Given the description of an element on the screen output the (x, y) to click on. 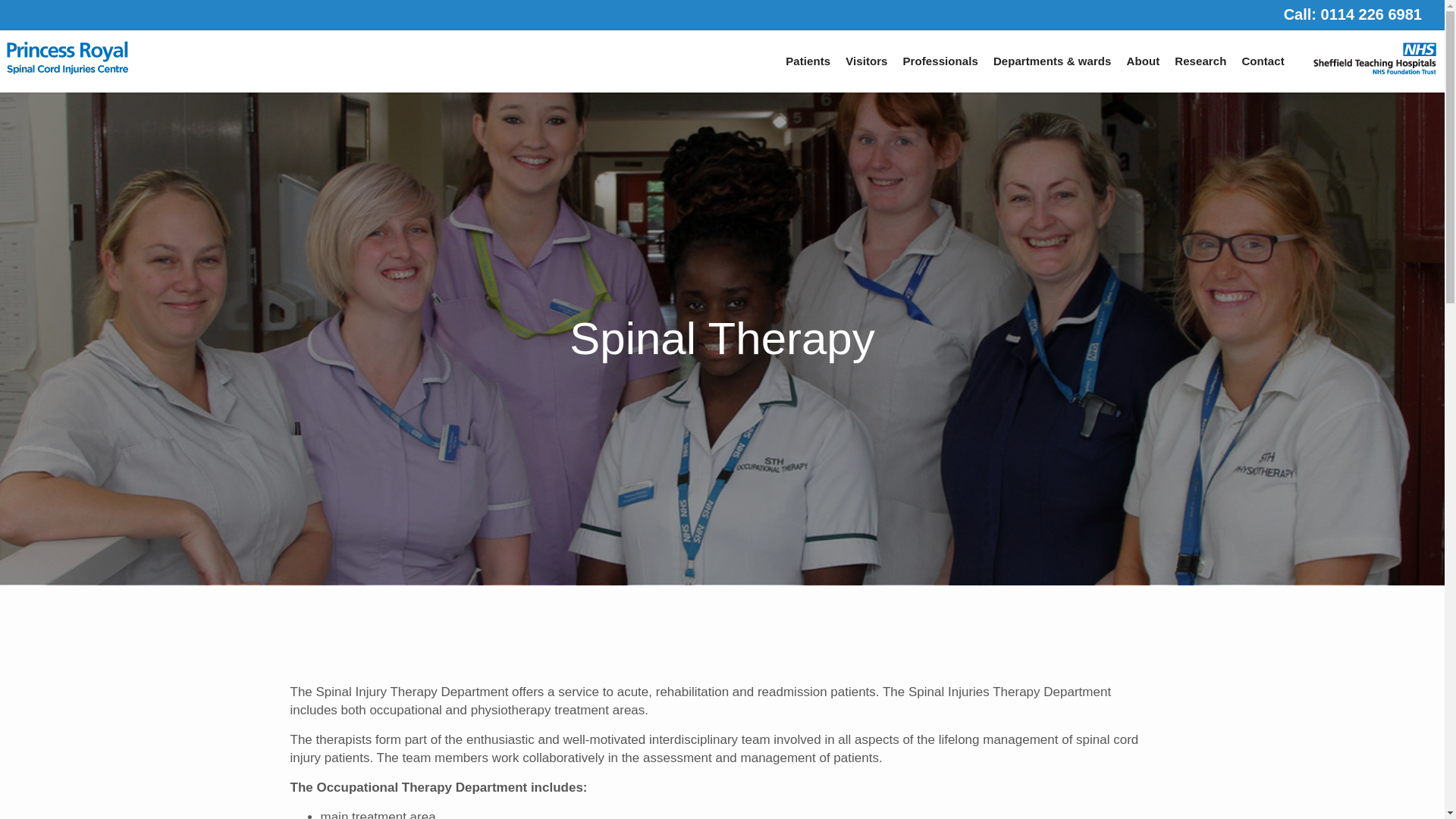
Patients (807, 61)
Professionals (940, 61)
About (1143, 61)
Visitors (866, 61)
Research (1200, 61)
Contact  (1264, 61)
